Given the description of an element on the screen output the (x, y) to click on. 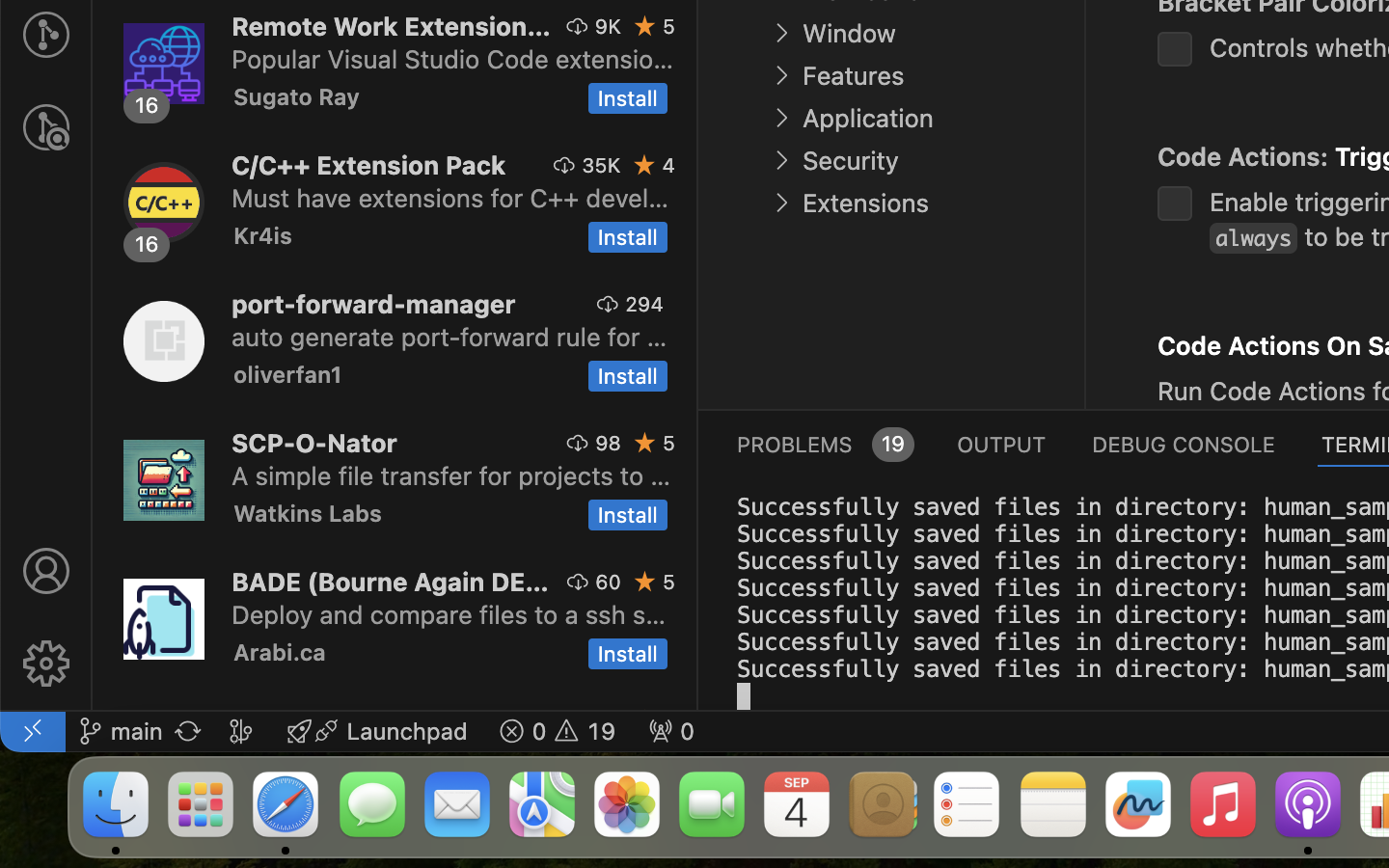
0 OUTPUT Element type: AXRadioButton (1001, 443)
 Element type: AXStaticText (577, 25)
 Element type: AXStaticText (1108, 151)
Deploy and compare files to a ssh server Element type: AXStaticText (449, 613)
Remote Work Extension Pack Element type: AXStaticText (391, 25)
